Given the description of an element on the screen output the (x, y) to click on. 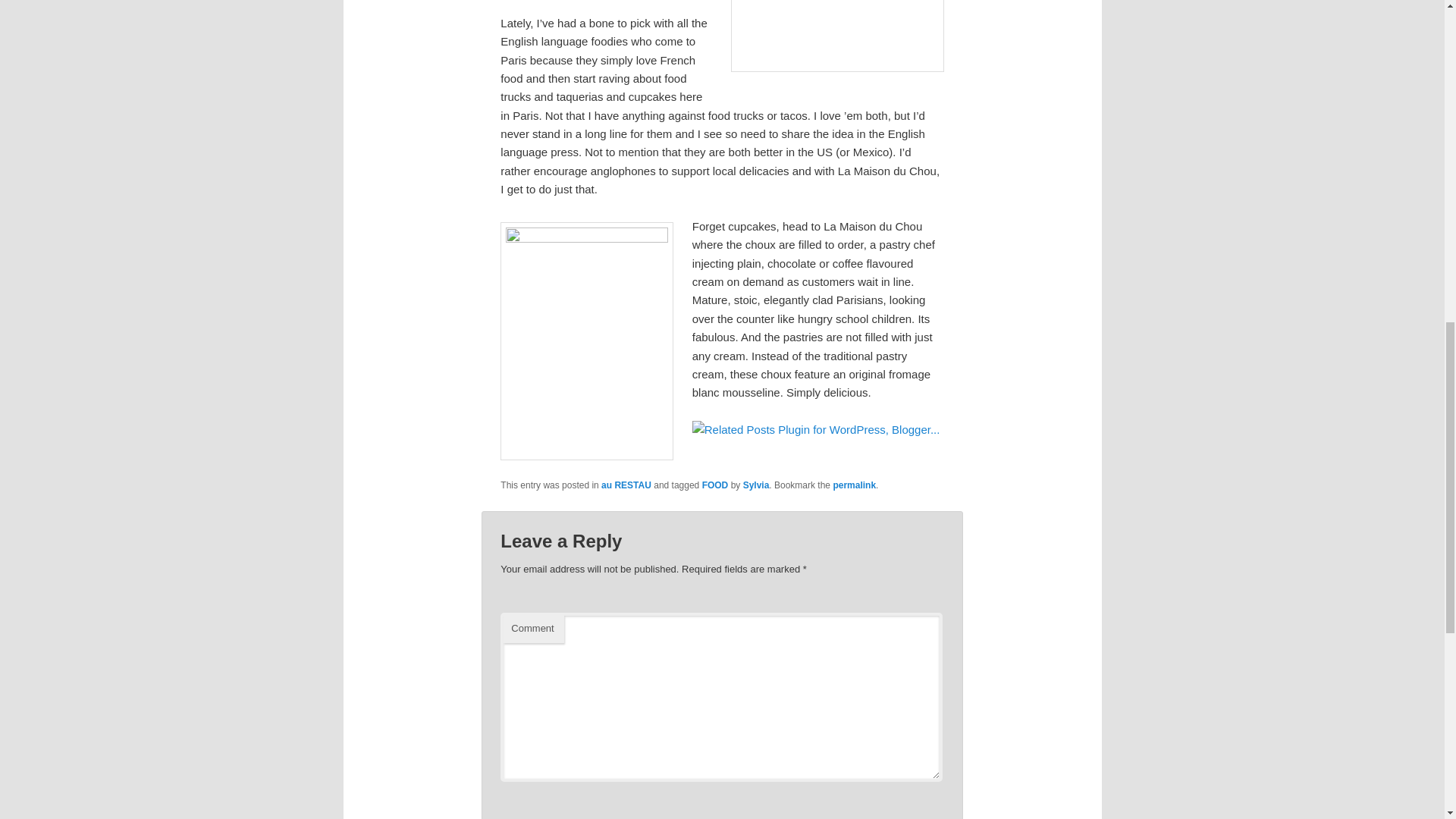
au RESTAU (625, 484)
Sylvia (756, 484)
FOOD (715, 484)
Permalink to Quel chou ! (854, 484)
permalink (854, 484)
Paris Maison du Chou (836, 36)
